Given the description of an element on the screen output the (x, y) to click on. 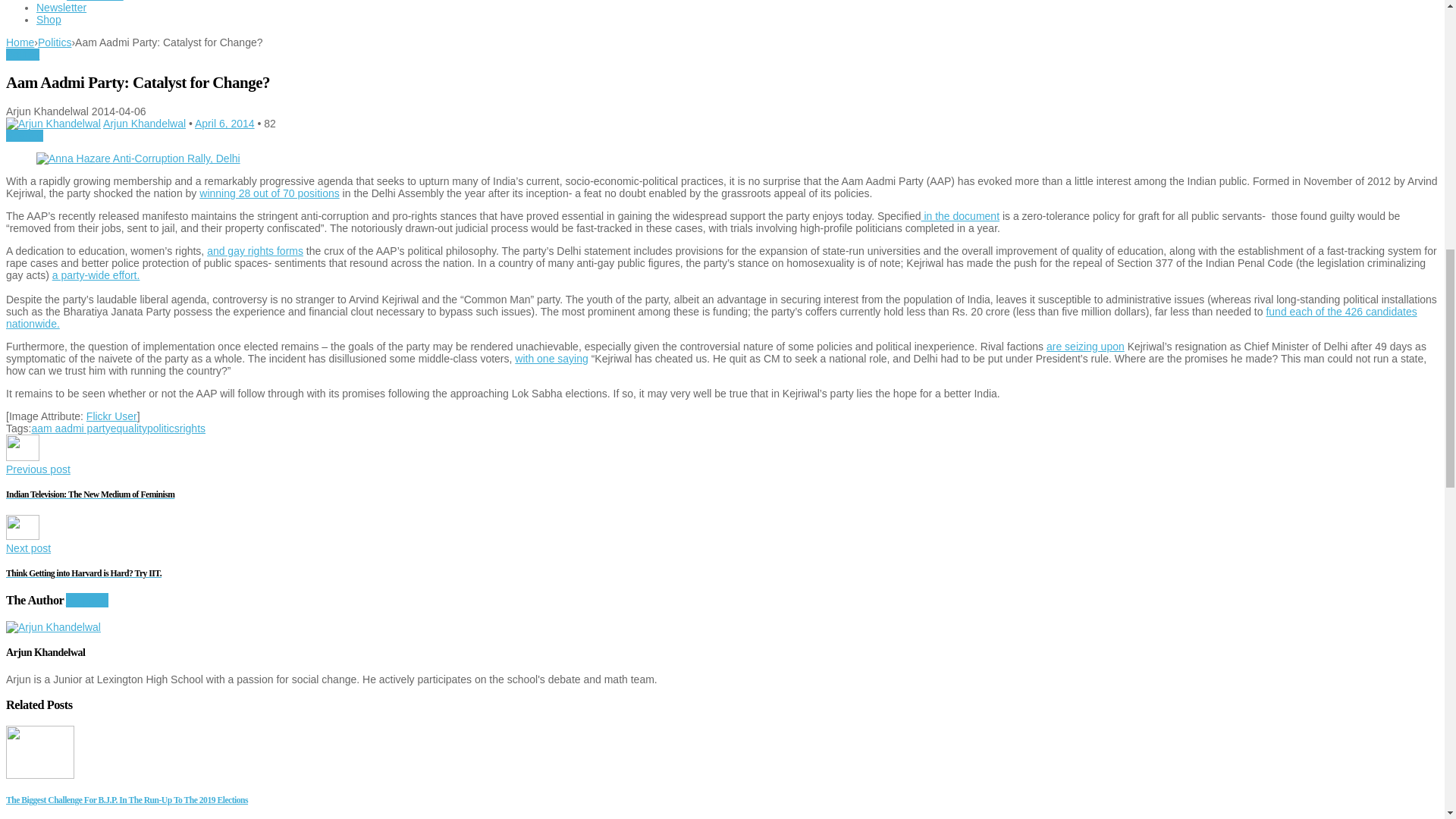
Queer India: Gay rights and the Aam Aadmi Party (254, 250)
View all posts by Arjun Khandelwal (144, 123)
Posts by Arjun Khandelwal (52, 626)
Share (24, 135)
Permalink to Aam Aadmi Party: Catalyst for Change? (224, 123)
Aam Aadmi Party: Catalyst for Change? (138, 158)
View all posts in Politics (22, 54)
Views (269, 123)
Posts by Arjun Khandelwal (52, 123)
